Given the description of an element on the screen output the (x, y) to click on. 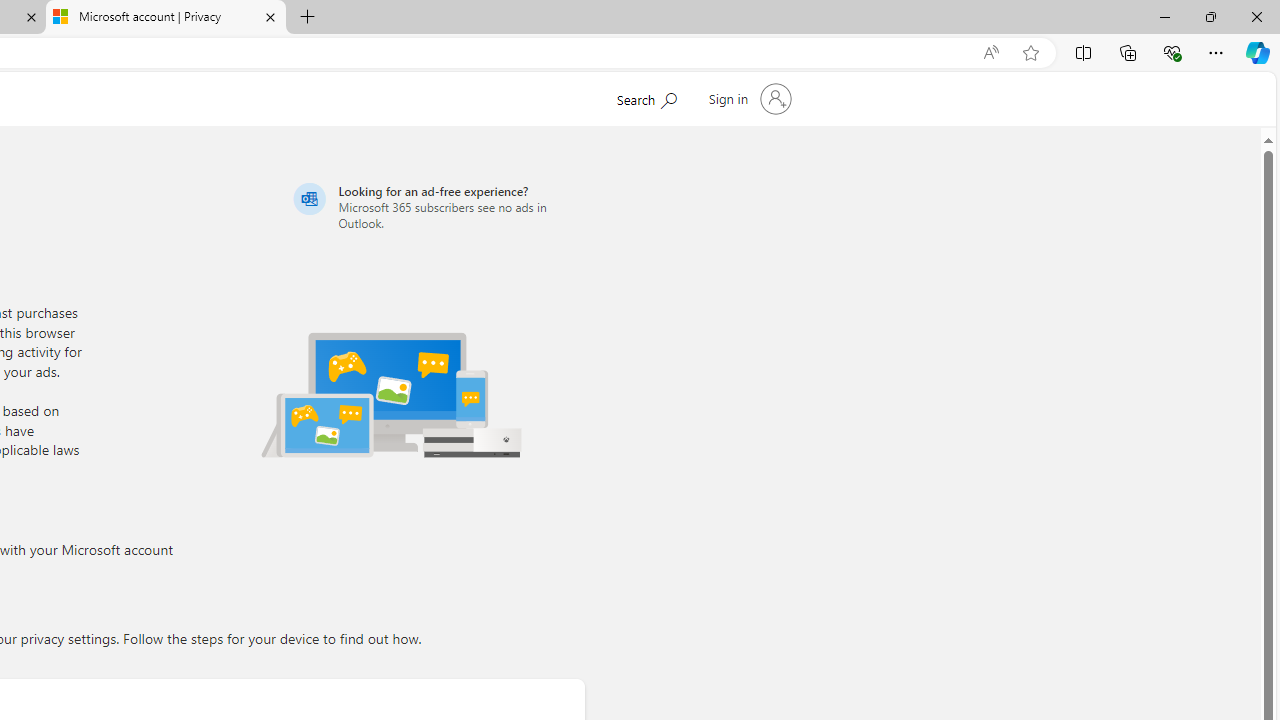
Search Microsoft.com (646, 97)
Illustration of multiple devices (391, 394)
Sign in to your account (748, 98)
Looking for an ad-free experience? (436, 206)
